Given the description of an element on the screen output the (x, y) to click on. 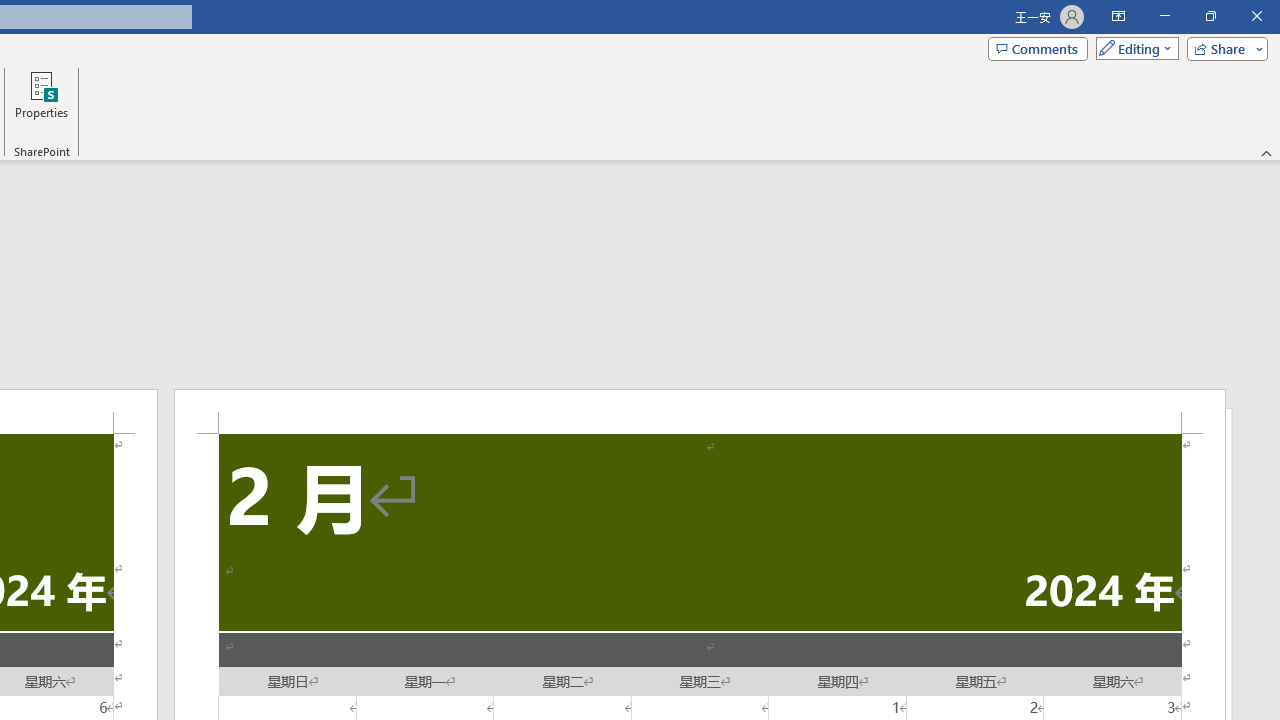
Mode (1133, 47)
Header -Section 2- (700, 411)
Properties (41, 102)
